Given the description of an element on the screen output the (x, y) to click on. 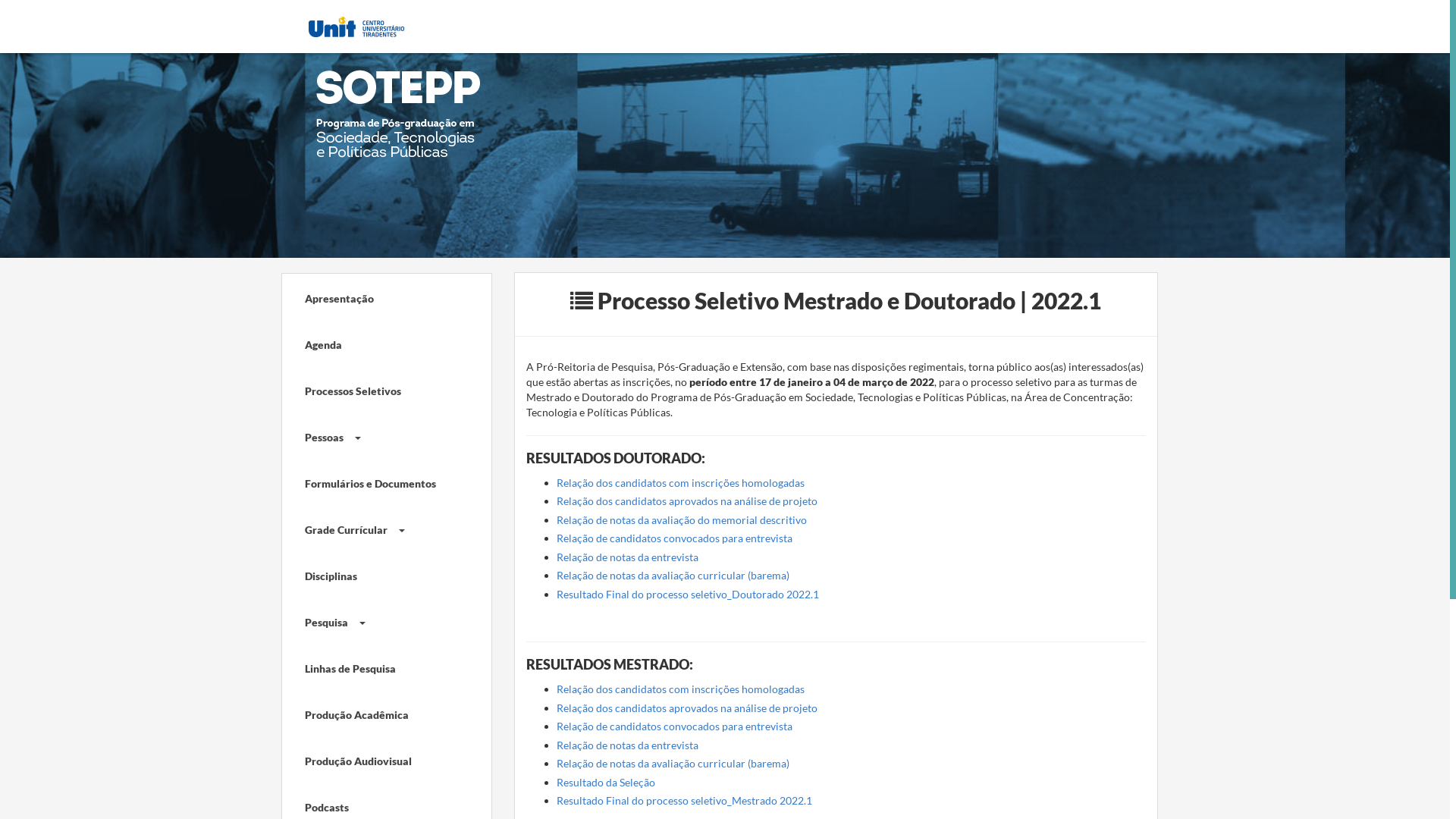
Agenda Element type: text (374, 343)
Pessoas Element type: text (374, 435)
Topo Element type: text (1411, 798)
Resultado Final do processo seletivo_Doutorado 2022.1 Element type: text (687, 593)
Linhas de Pesquisa Element type: text (374, 666)
Disciplinas Element type: text (374, 574)
Pesquisa Element type: text (374, 620)
Resultado Final do processo seletivo_Mestrado 2022.1 Element type: text (684, 799)
Processos Seletivos Element type: text (374, 389)
